Given the description of an element on the screen output the (x, y) to click on. 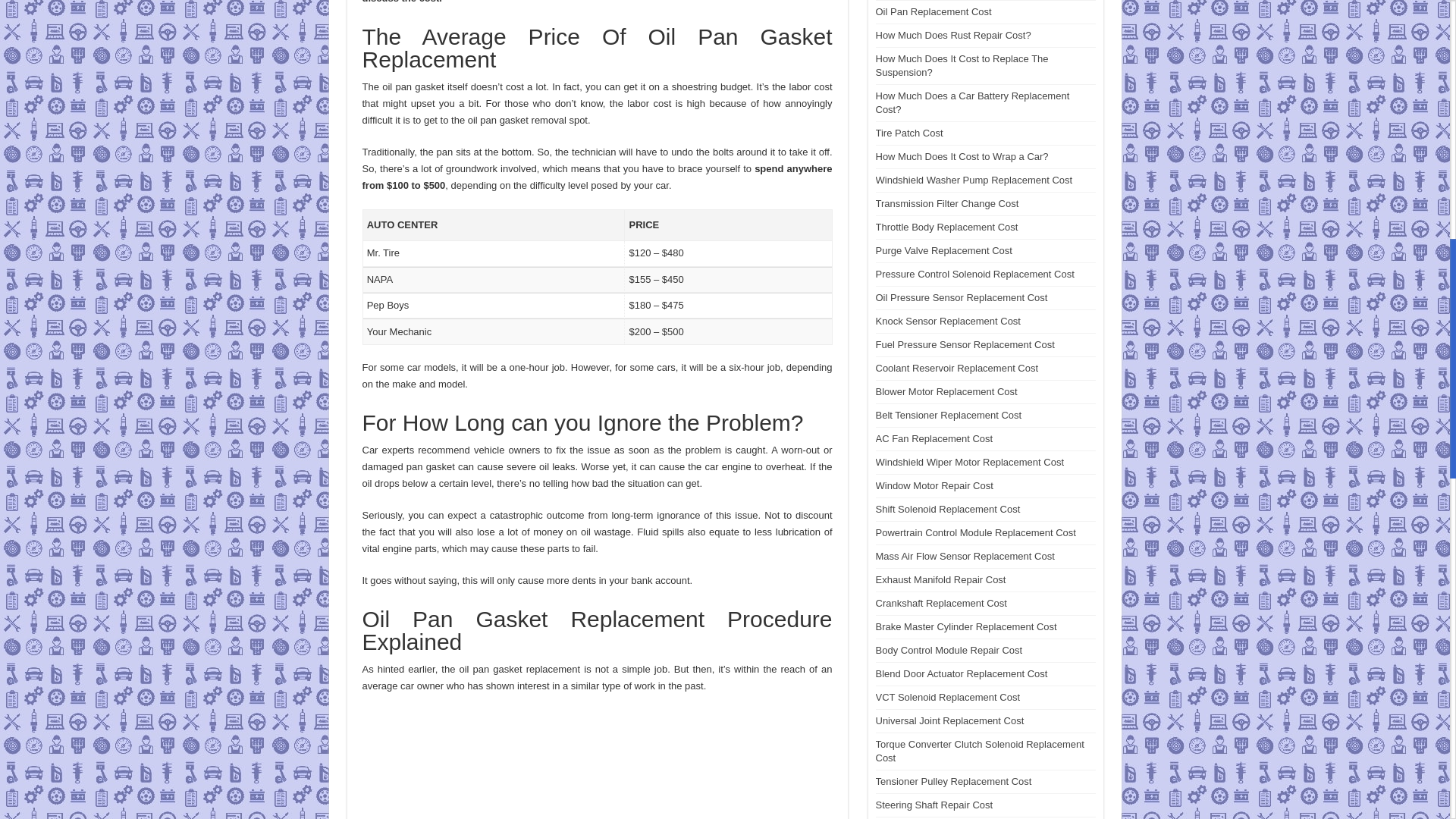
Scroll To Top (1427, 60)
